Given the description of an element on the screen output the (x, y) to click on. 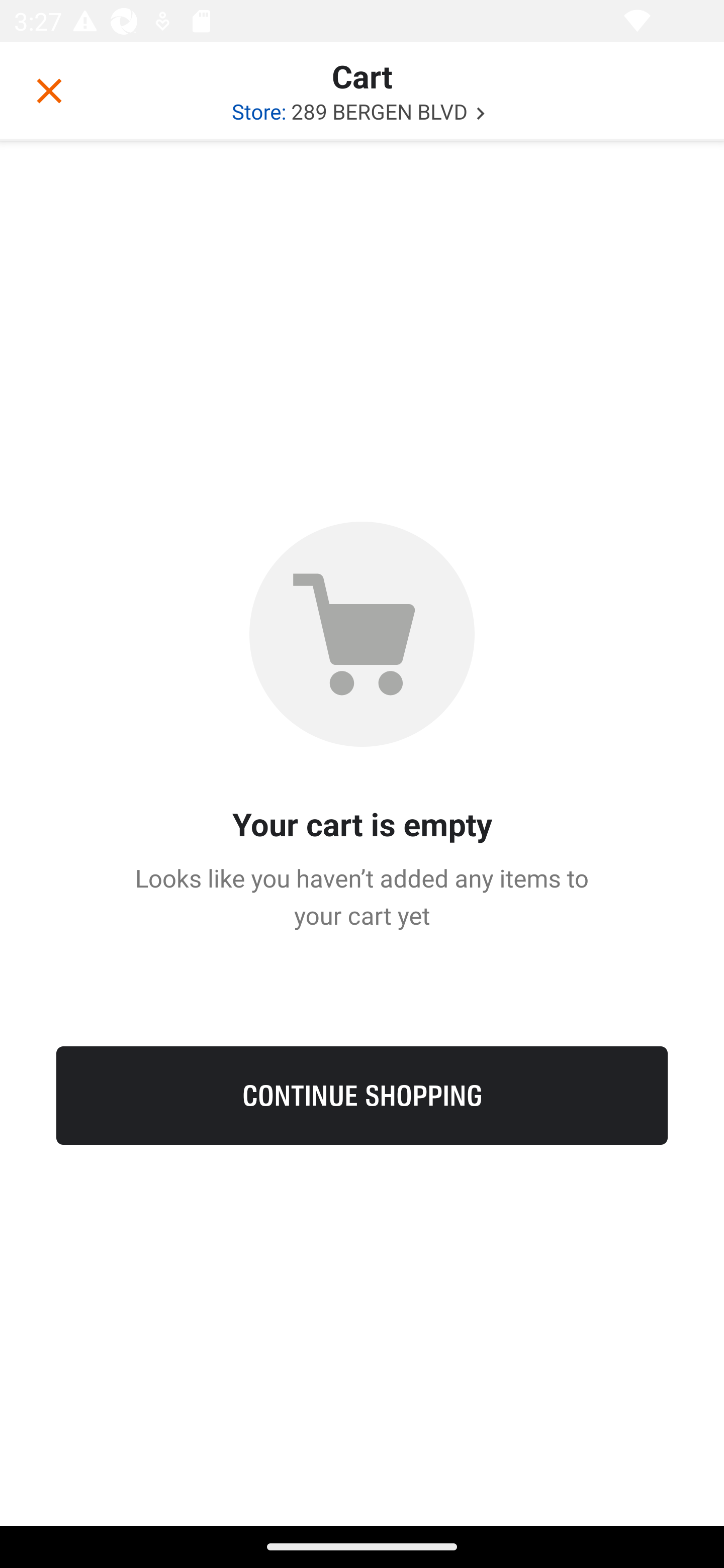
Close cart  (49, 89)
289 BERGEN BLVD Store: 289 BERGEN BLVD  (361, 111)
CONTINUE SHOPPING (361, 1094)
